Given the description of an element on the screen output the (x, y) to click on. 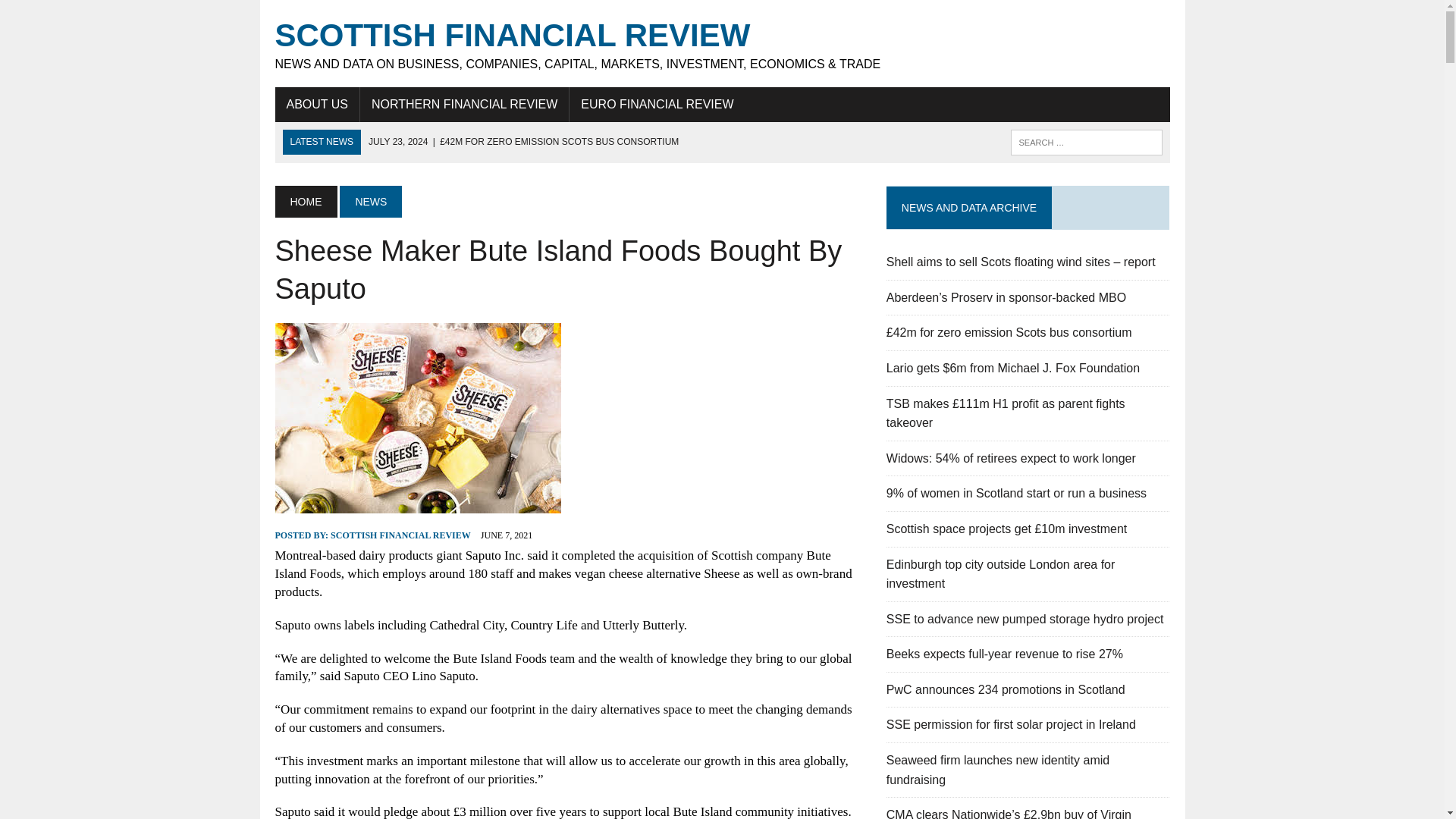
ABOUT US (317, 104)
SCOTTISH FINANCIAL REVIEW (400, 534)
Edinburgh top city outside London area for investment (1000, 573)
HOME (305, 201)
NORTHERN FINANCIAL REVIEW (464, 104)
SSE to advance new pumped storage hydro project (1024, 618)
Search (75, 14)
NEWS (370, 201)
PwC announces 234 promotions in Scotland (1005, 689)
Scottish Financial Review (722, 43)
EURO FINANCIAL REVIEW (656, 104)
